Given the description of an element on the screen output the (x, y) to click on. 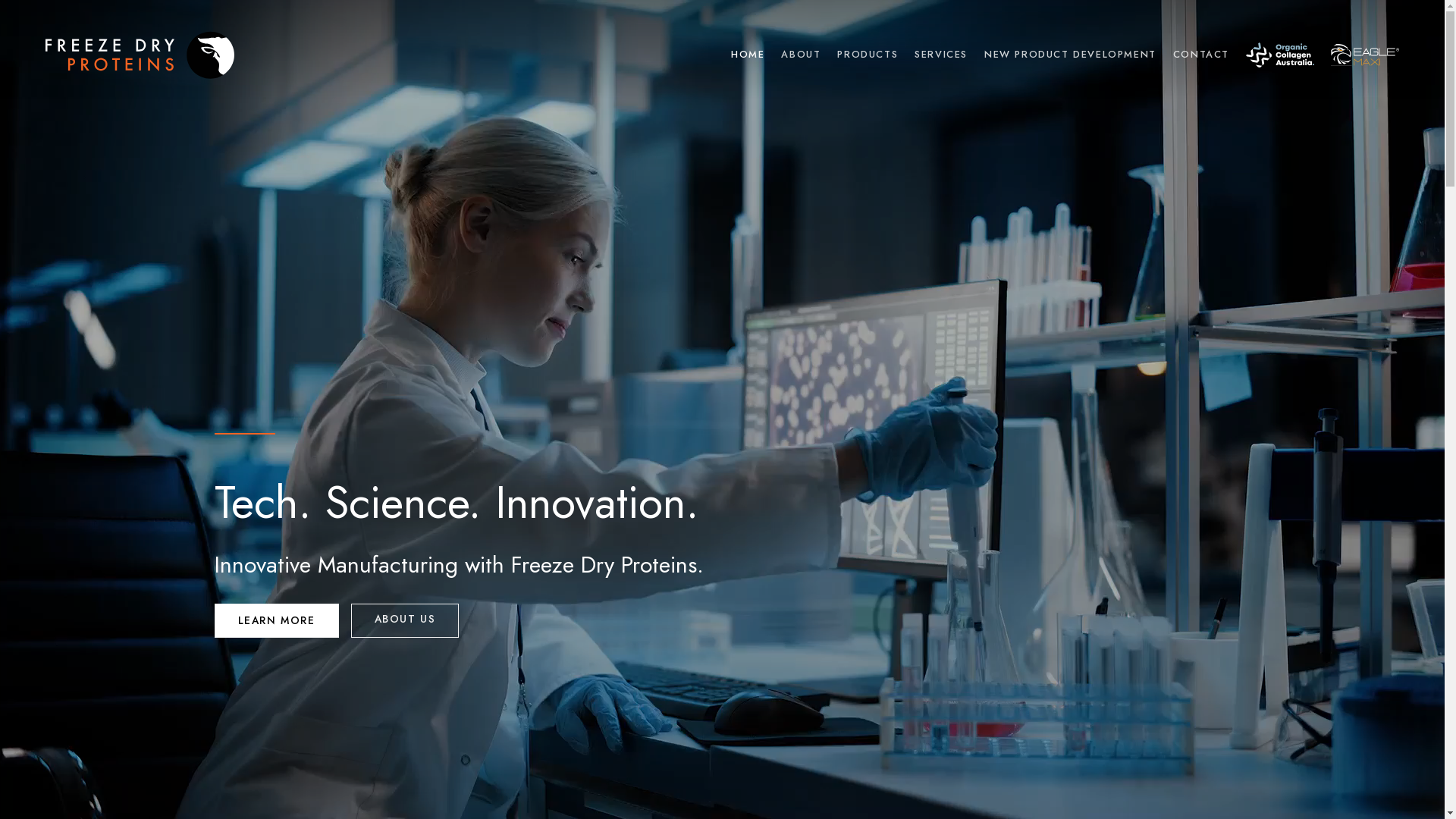
SERVICES Element type: text (940, 54)
ABOUT Element type: text (800, 54)
HOME Element type: text (747, 54)
CONTACT Element type: text (1201, 54)
Skip to content Element type: text (0, 0)
Freeze Dry Proteins Element type: hover (139, 55)
PRODUCTS Element type: text (867, 54)
NEW PRODUCT DEVELOPMENT Element type: text (1070, 54)
ABOUT US Element type: text (404, 620)
LEARN MORE Element type: text (275, 620)
